Given the description of an element on the screen output the (x, y) to click on. 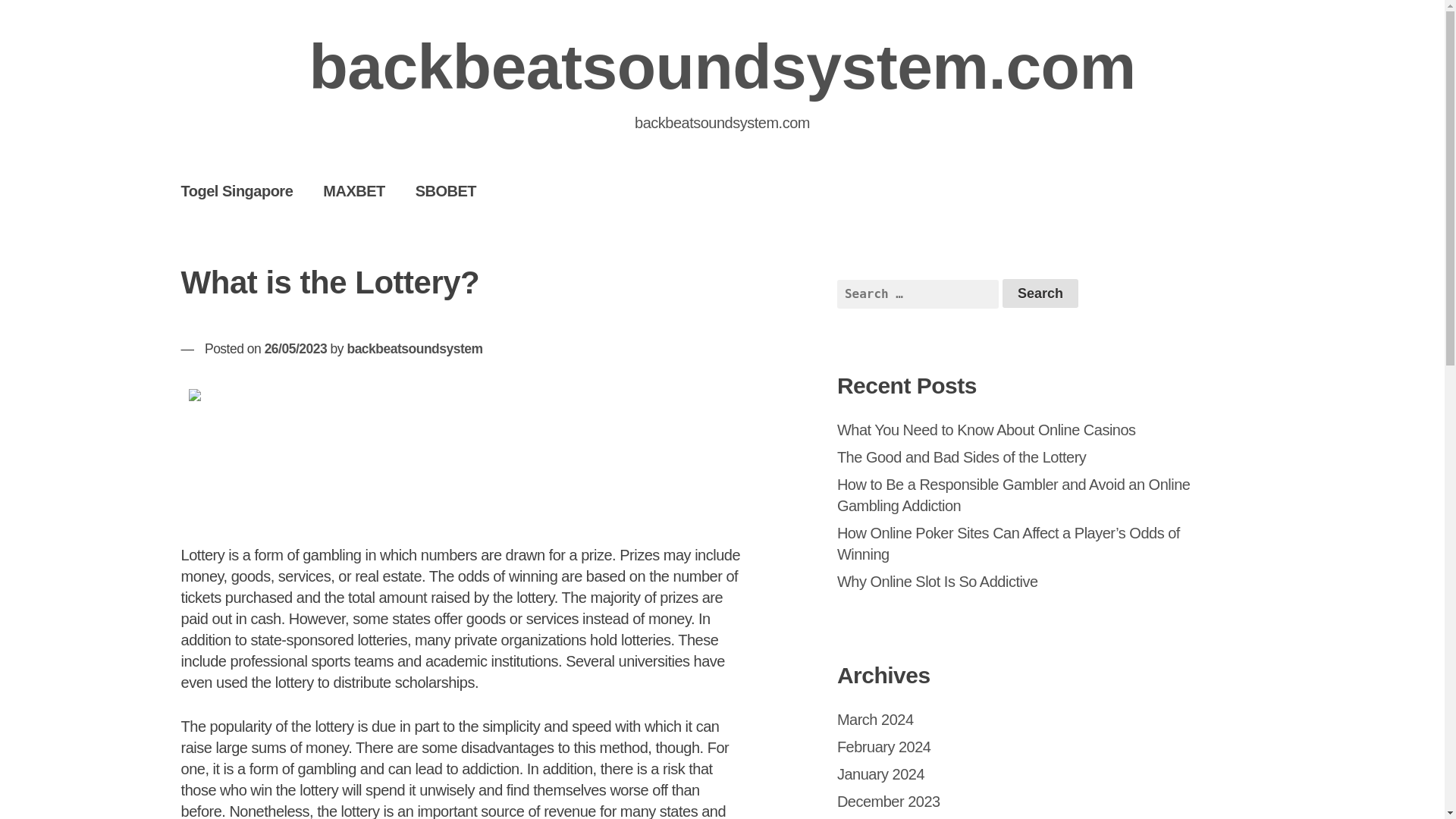
What You Need to Know About Online Casinos (986, 429)
MAXBET (352, 190)
SBOBET (446, 190)
December 2023 (888, 801)
backbeatsoundsystem (413, 348)
Togel Singapore (236, 190)
backbeatsoundsystem.com (721, 66)
Why Online Slot Is So Addictive (937, 581)
February 2024 (884, 746)
The Good and Bad Sides of the Lottery (961, 457)
January 2024 (880, 773)
Search (1040, 293)
Search (1040, 293)
Search (1040, 293)
